Given the description of an element on the screen output the (x, y) to click on. 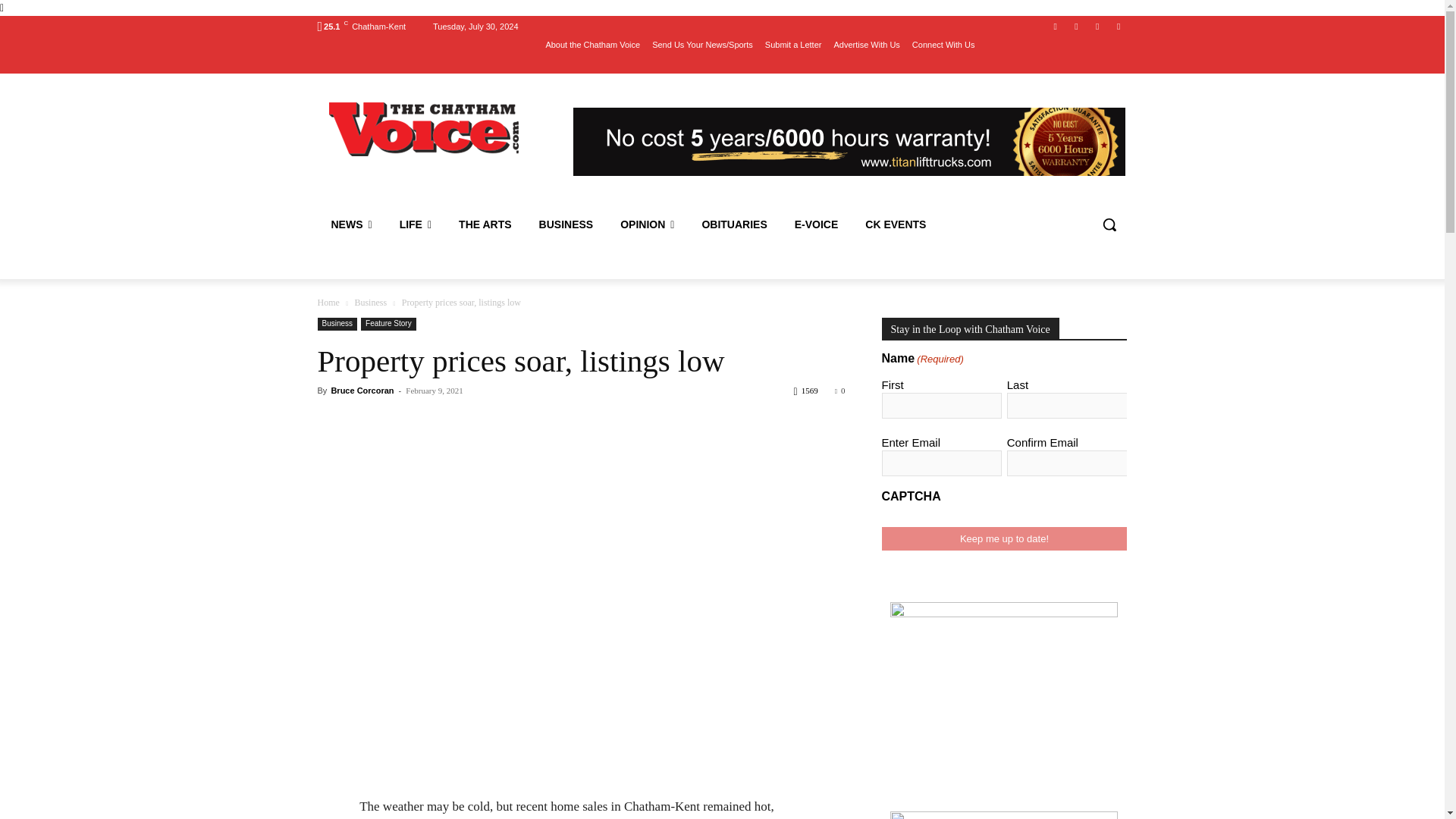
Submit a Letter (793, 44)
Facebook (1055, 27)
Connect With Us (943, 44)
Keep me up to date! (1003, 538)
About the Chatham Voice (592, 44)
Chatham Voice (425, 128)
Chatham Voice (426, 128)
Twitter (1097, 27)
Youtube (1075, 27)
NEWS (351, 224)
THE ARTS (484, 224)
BUSINESS (566, 224)
OPINION (647, 224)
LIFE (415, 224)
Advertise With Us (865, 44)
